Given the description of an element on the screen output the (x, y) to click on. 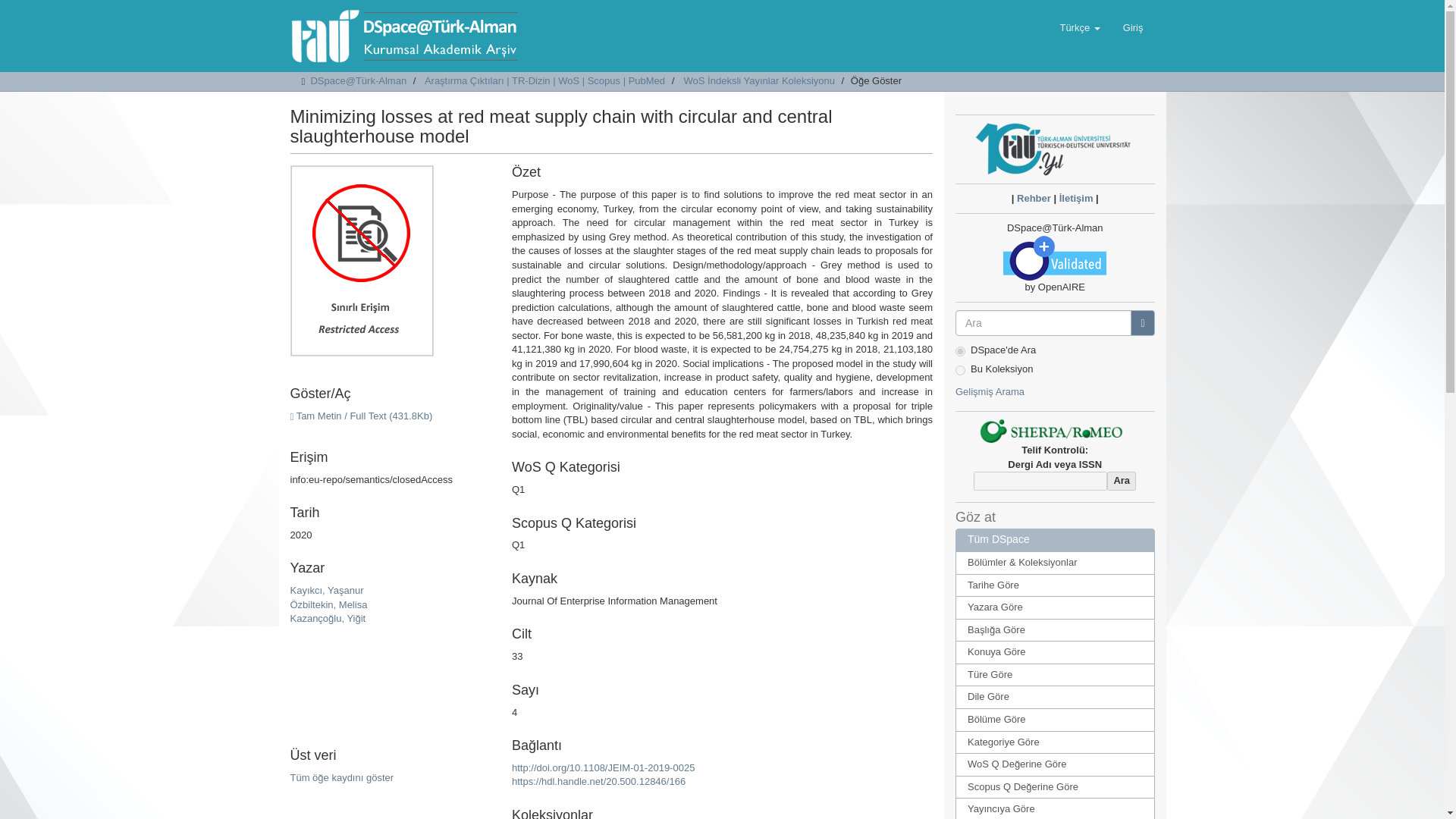
Ara (1120, 480)
Bul (1142, 322)
Rehber (1033, 197)
